Given the description of an element on the screen output the (x, y) to click on. 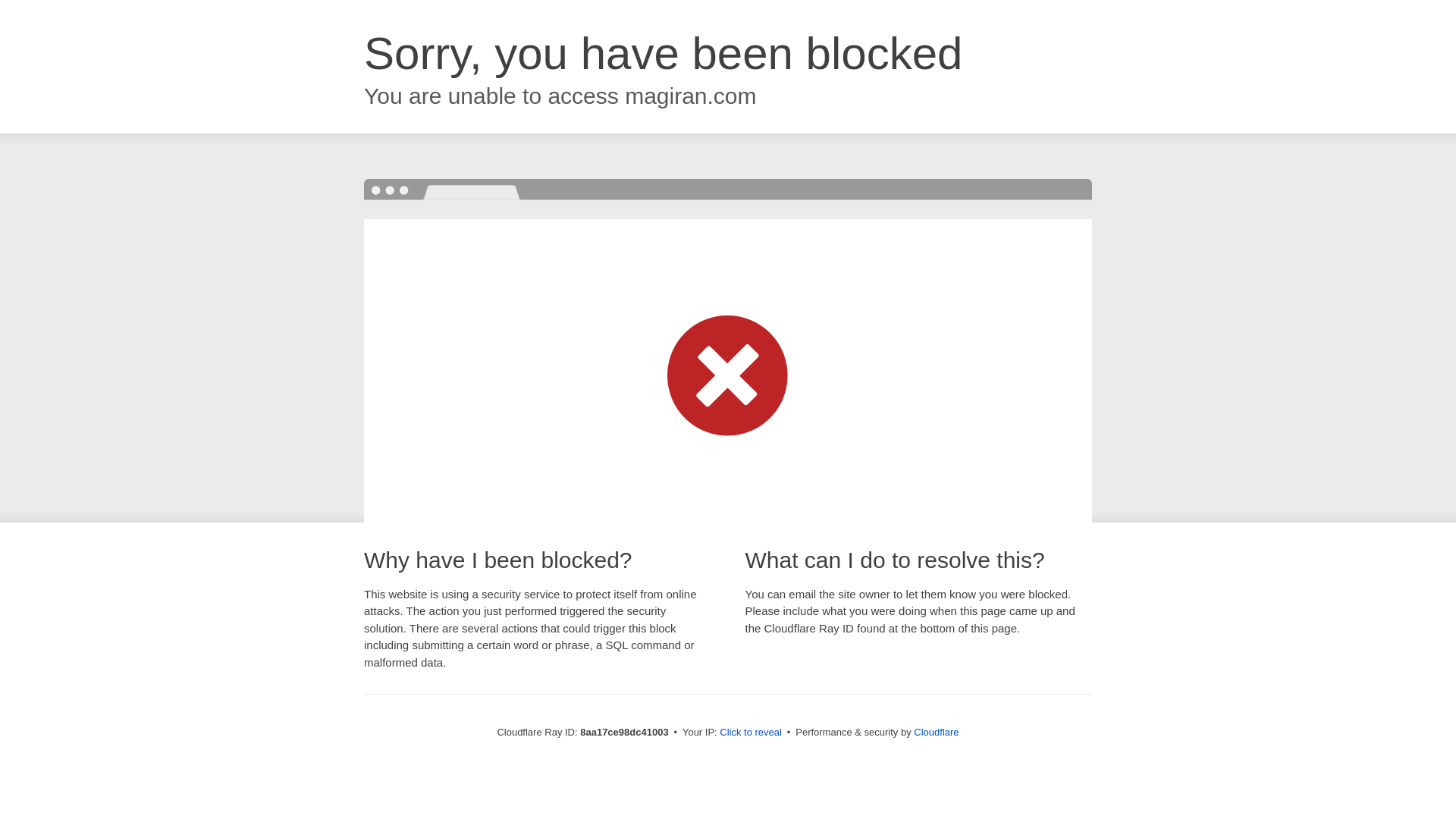
Click to reveal (750, 732)
Cloudflare (936, 731)
